Given the description of an element on the screen output the (x, y) to click on. 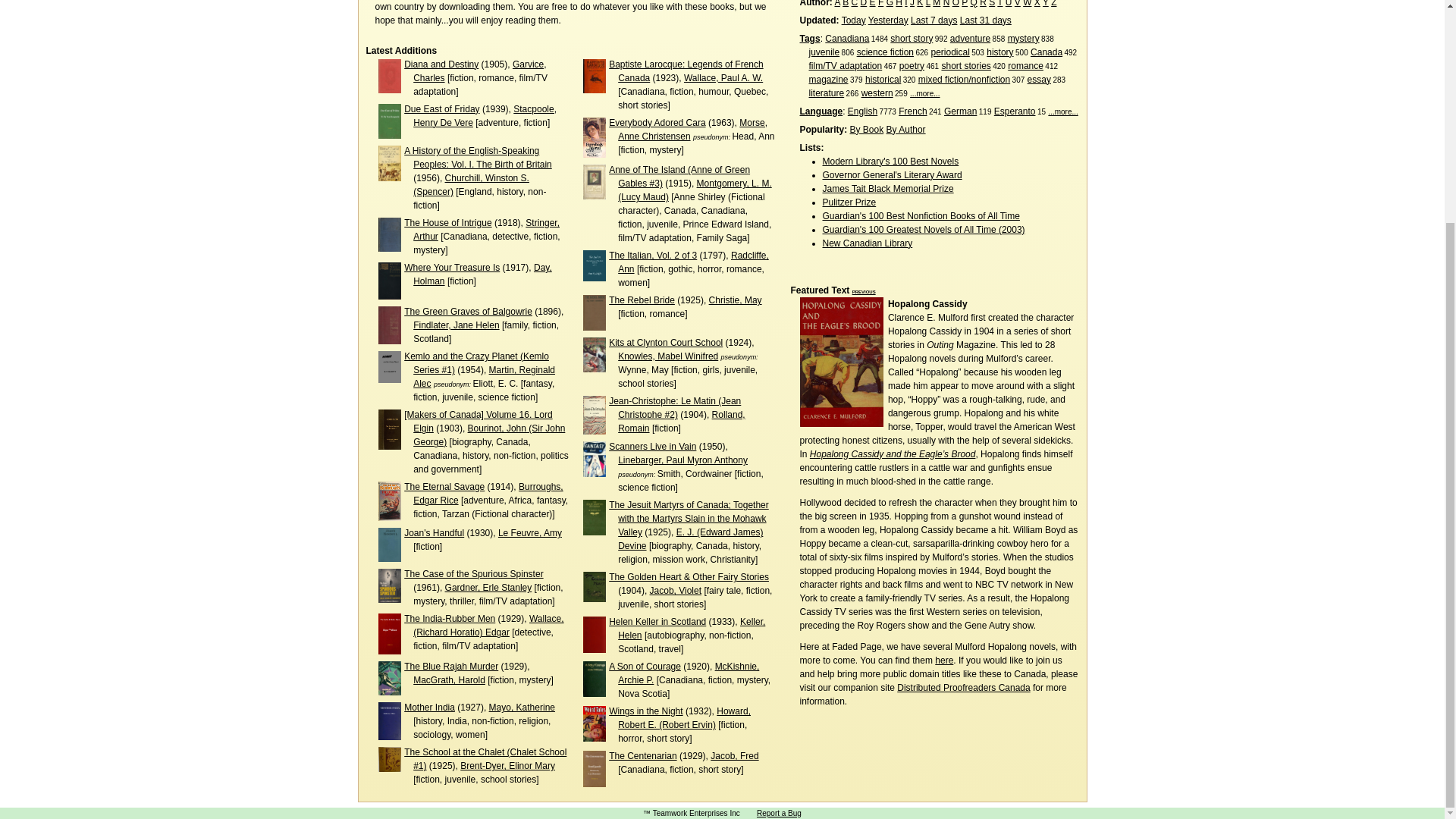
The Blue Rajah Murder (450, 665)
Garvice, Charles (479, 70)
The Green Graves of Balgowrie (468, 311)
Joan's Handful (434, 532)
The Eternal Savage (444, 486)
Stacpoole, Henry De Vere (484, 115)
Burroughs, Edgar Rice (487, 493)
Day, Holman (482, 274)
Stringer, Arthur (486, 229)
Diana and Destiny (441, 63)
